Given the description of an element on the screen output the (x, y) to click on. 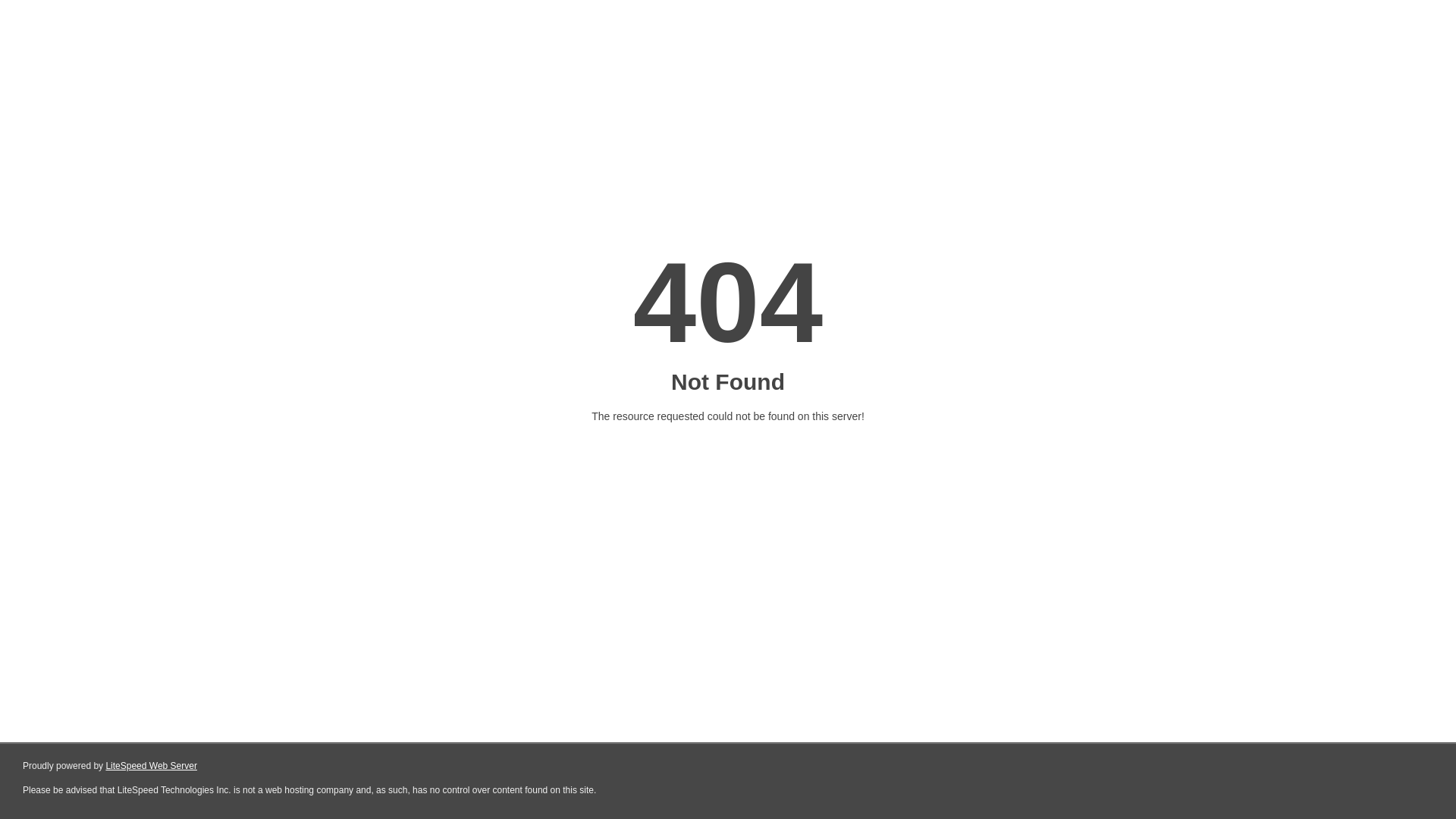
LiteSpeed Web Server Element type: text (151, 765)
